Given the description of an element on the screen output the (x, y) to click on. 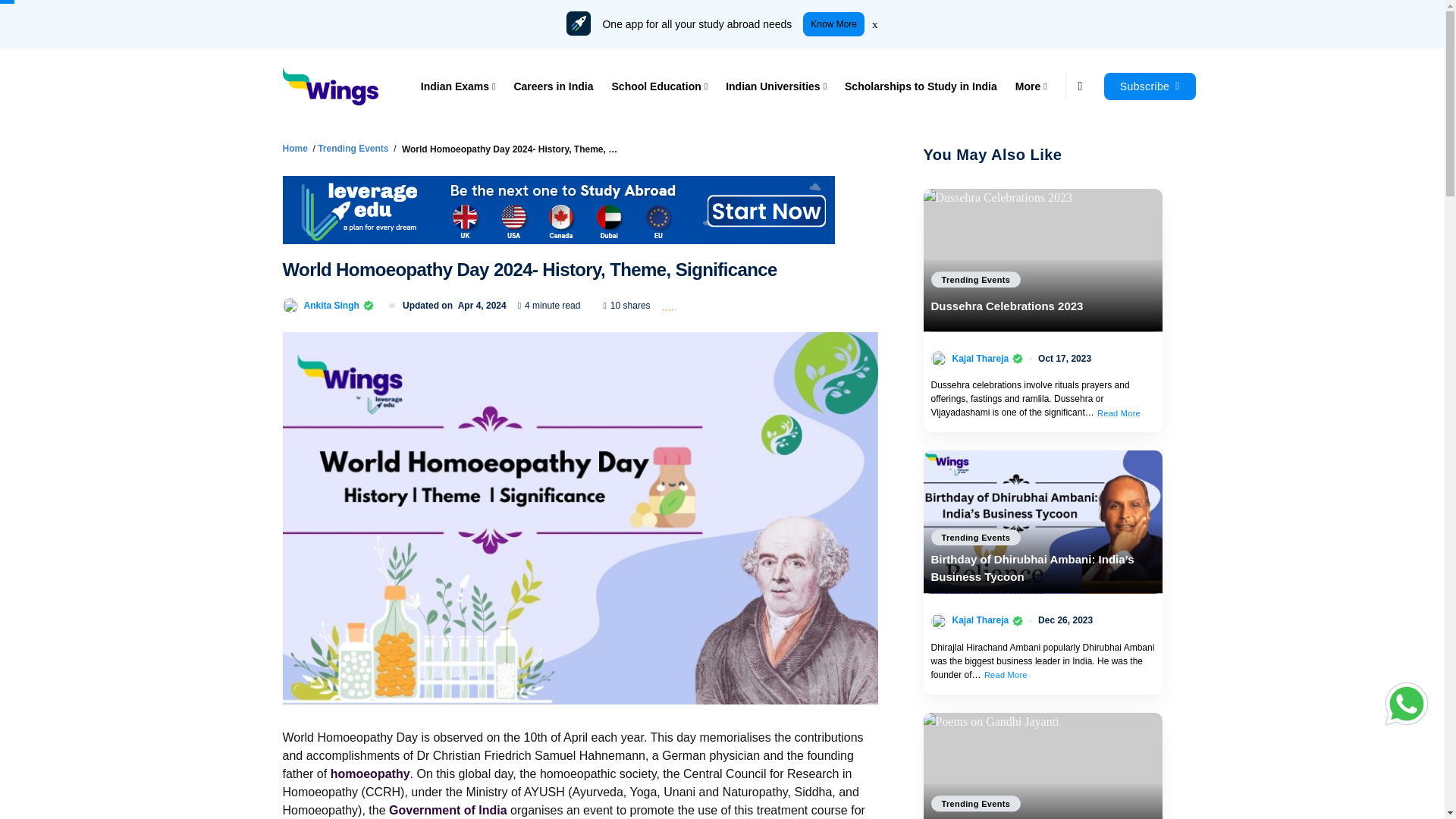
View all posts by Kajal Thareja (980, 620)
View all posts by Kajal Thareja (980, 358)
View all posts by Ankita Singh (330, 305)
